Given the description of an element on the screen output the (x, y) to click on. 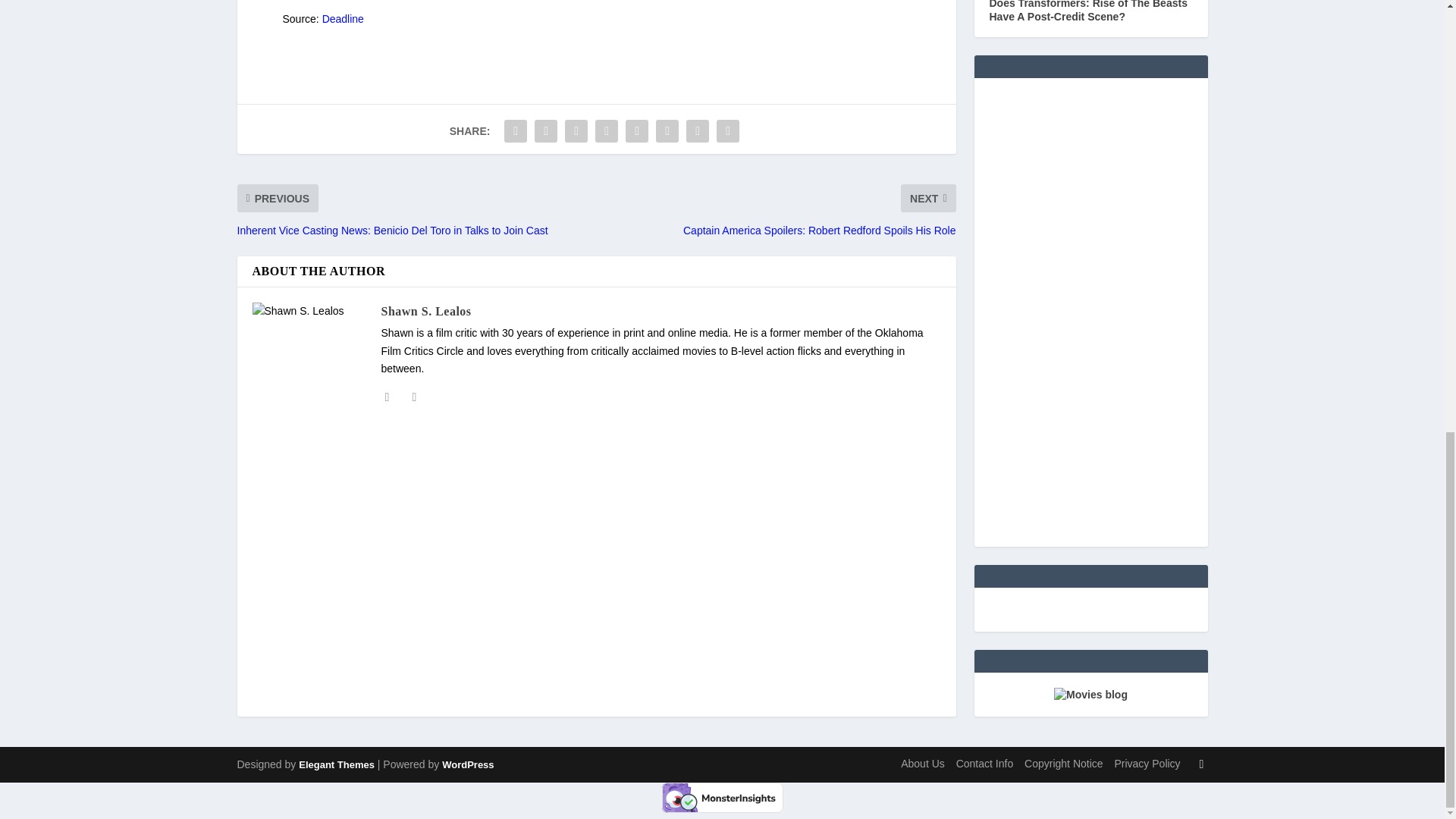
Movies blog (1090, 694)
Premium WordPress Themes (336, 764)
View all posts by Shawn S. Lealos (425, 310)
